Given the description of an element on the screen output the (x, y) to click on. 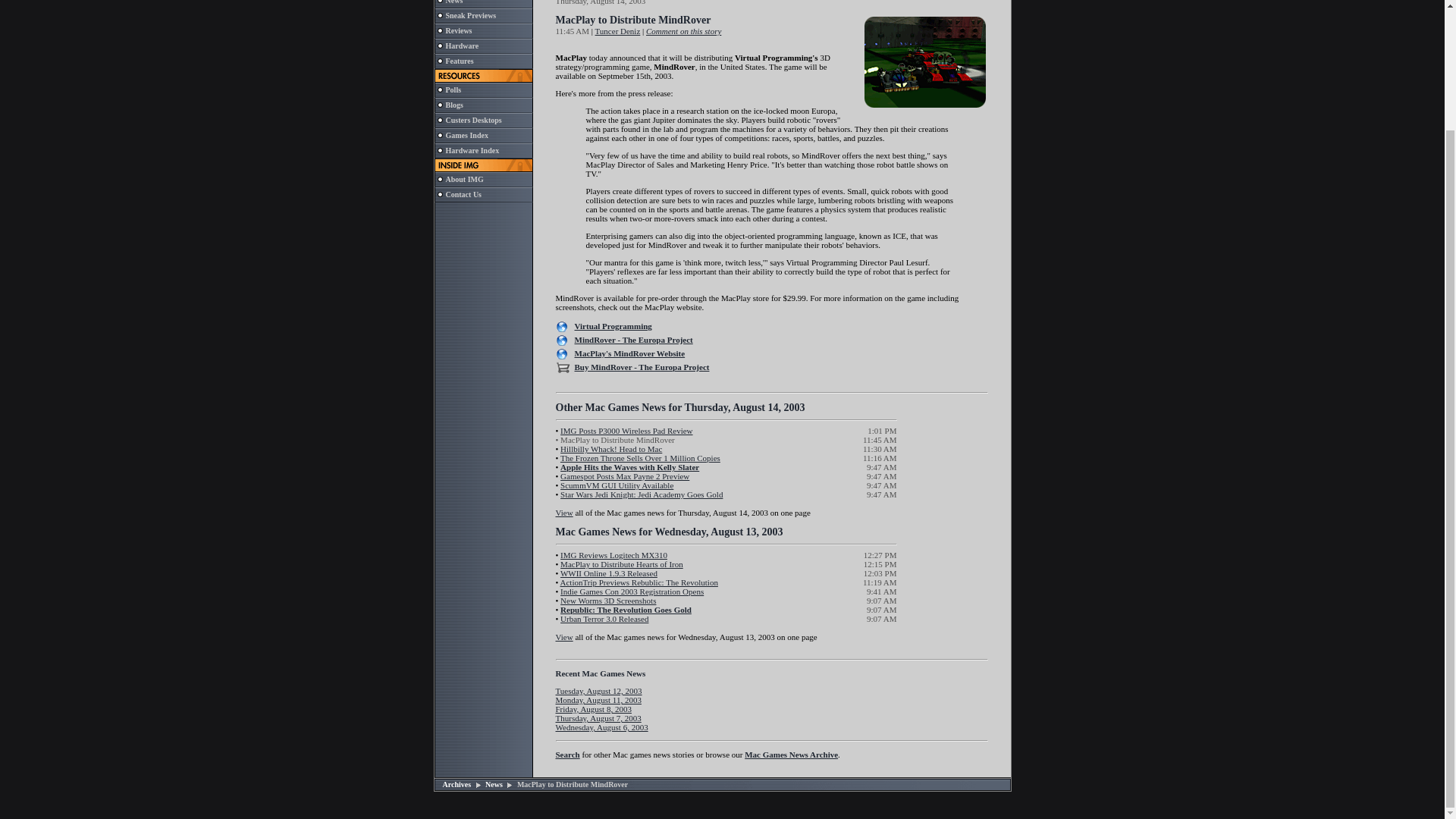
Features (459, 60)
MacPlay to Distribute Hearts of Iron (621, 563)
The Frozen Throne Sells Over 1 Million Copies (640, 457)
Apple Hits the Waves with Kelly Slater (629, 466)
News (454, 2)
Blogs (454, 104)
ActionTrip Previews Rebublic: The Revolution (638, 582)
Reviews (458, 30)
View (563, 511)
IMG Posts P3000 Wireless Pad Review (626, 429)
